Given the description of an element on the screen output the (x, y) to click on. 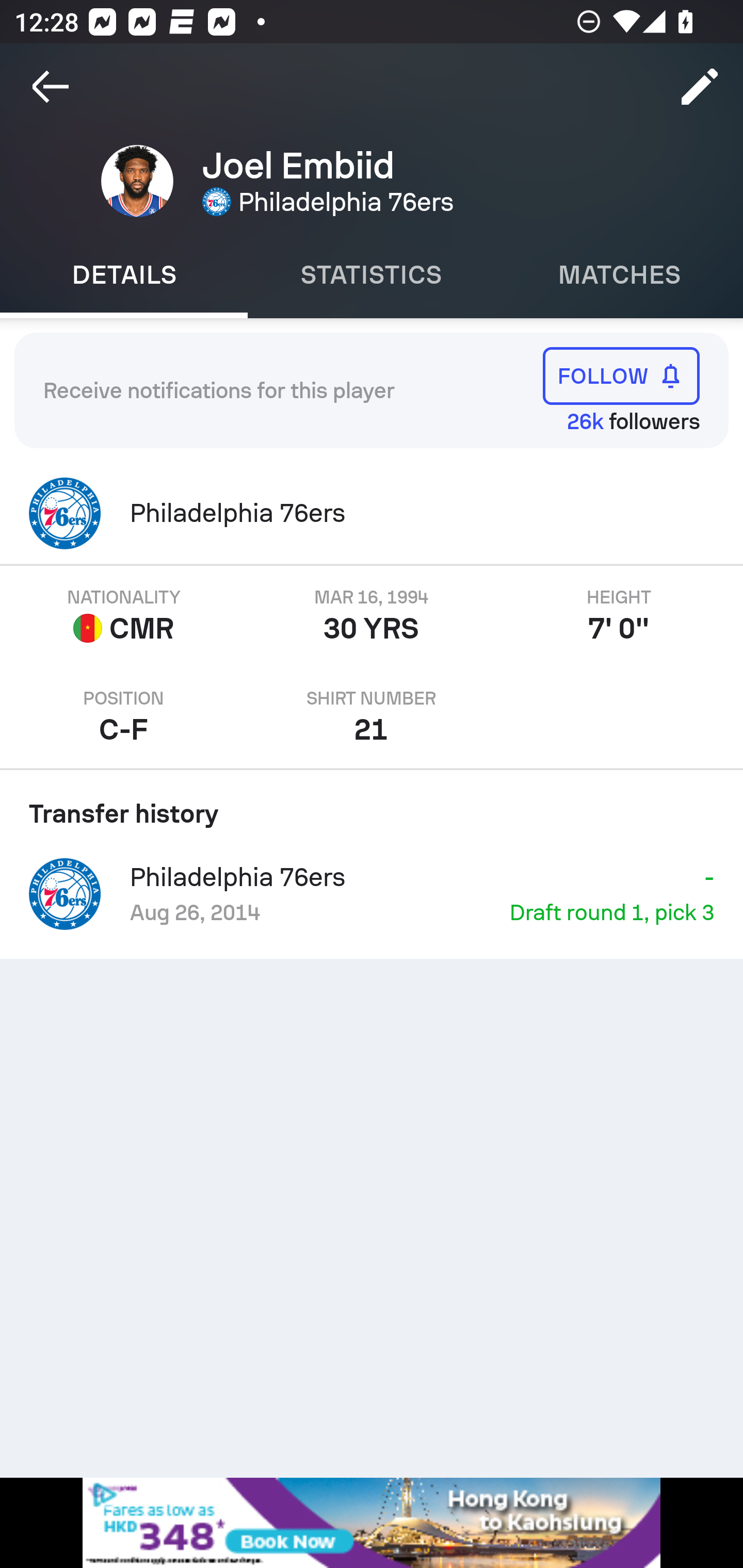
Navigate up (50, 86)
Edit (699, 86)
Statistics STATISTICS (371, 275)
Matches MATCHES (619, 275)
FOLLOW (621, 375)
Philadelphia 76ers (371, 513)
NATIONALITY CMR (123, 616)
POSITION C-F (123, 717)
Transfer history (371, 806)
ijqm75ea_320x50 (371, 1522)
